Given the description of an element on the screen output the (x, y) to click on. 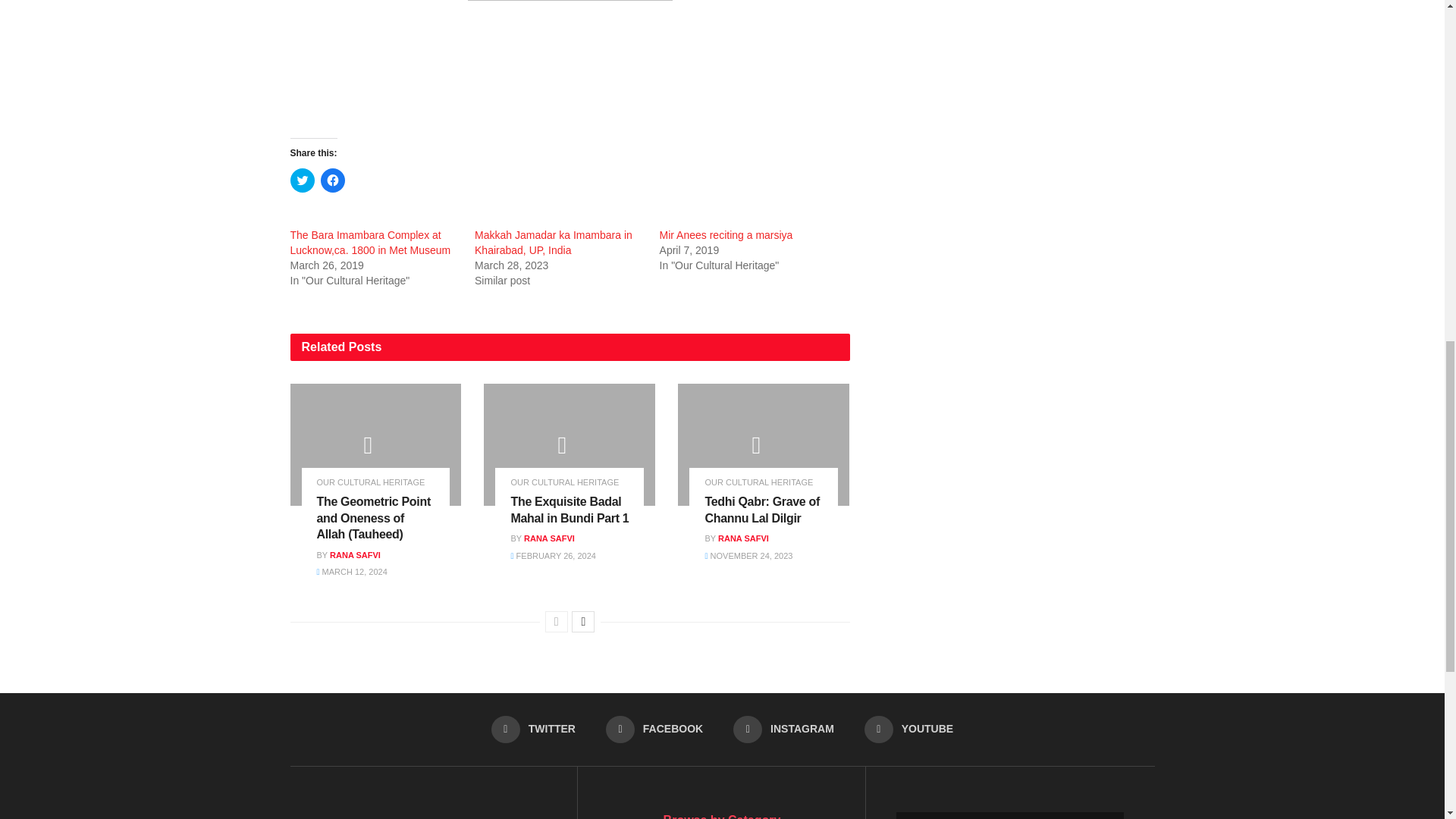
Next (583, 621)
Makkah Jamadar ka Imambara in Khairabad, UP, India (552, 242)
Click to share on Twitter (301, 180)
Click to share on Facebook (331, 180)
Previous (555, 621)
The Bara Imambara Complex at Lucknow,ca. 1800 in Met Museum (369, 242)
Mir Anees reciting a marsiya (726, 234)
